Given the description of an element on the screen output the (x, y) to click on. 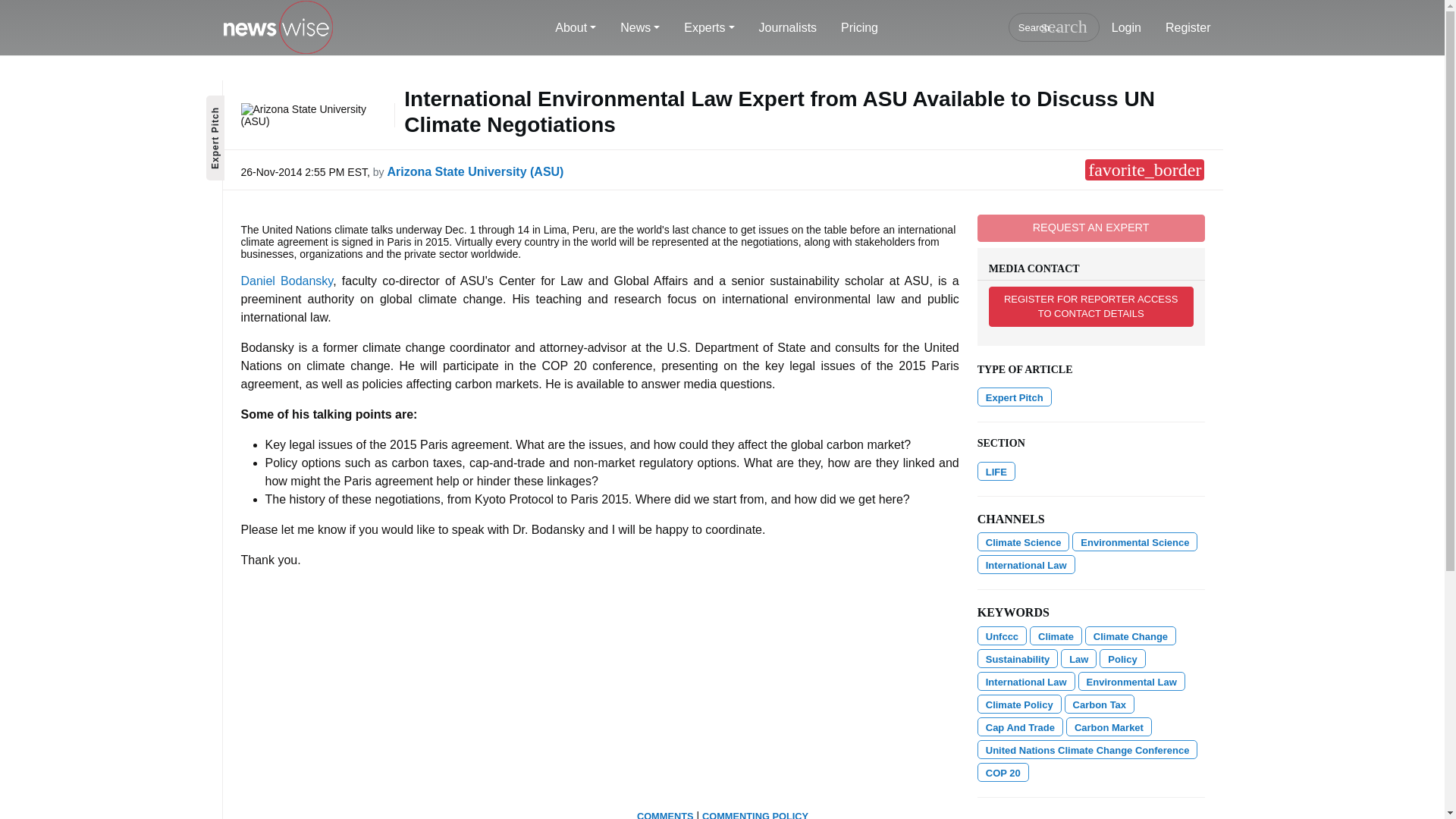
Show all articles in this channel (1133, 541)
Show all articles in this channel (1025, 564)
Add to Favorites (1144, 169)
News (639, 27)
Newswise logo (277, 28)
Expert Pitch (1013, 396)
About (575, 27)
Show all articles in this channel (995, 470)
Show all articles in this channel (1023, 541)
